Given the description of an element on the screen output the (x, y) to click on. 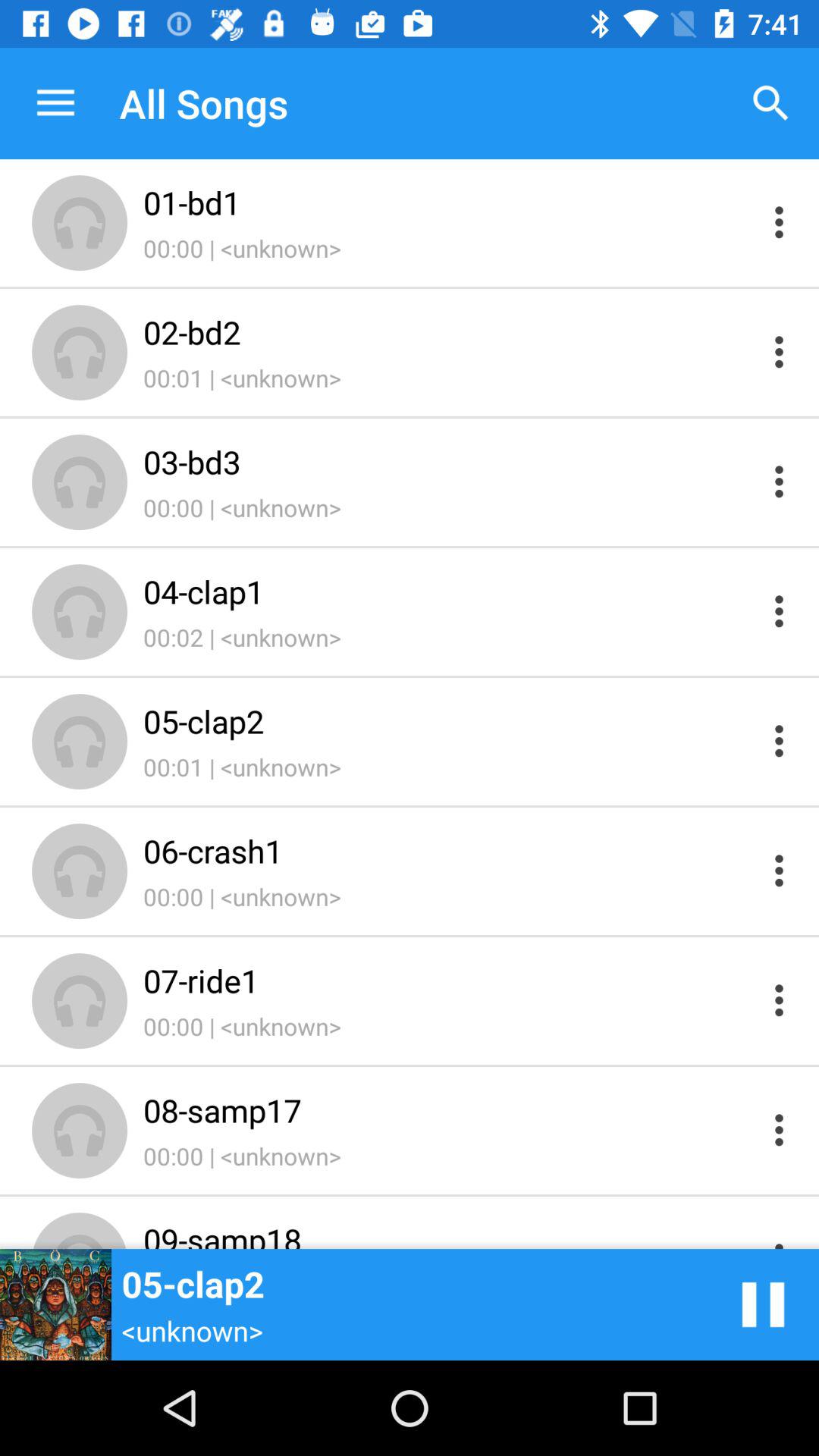
click item above 00:00 | <unknown> icon (449, 980)
